Given the description of an element on the screen output the (x, y) to click on. 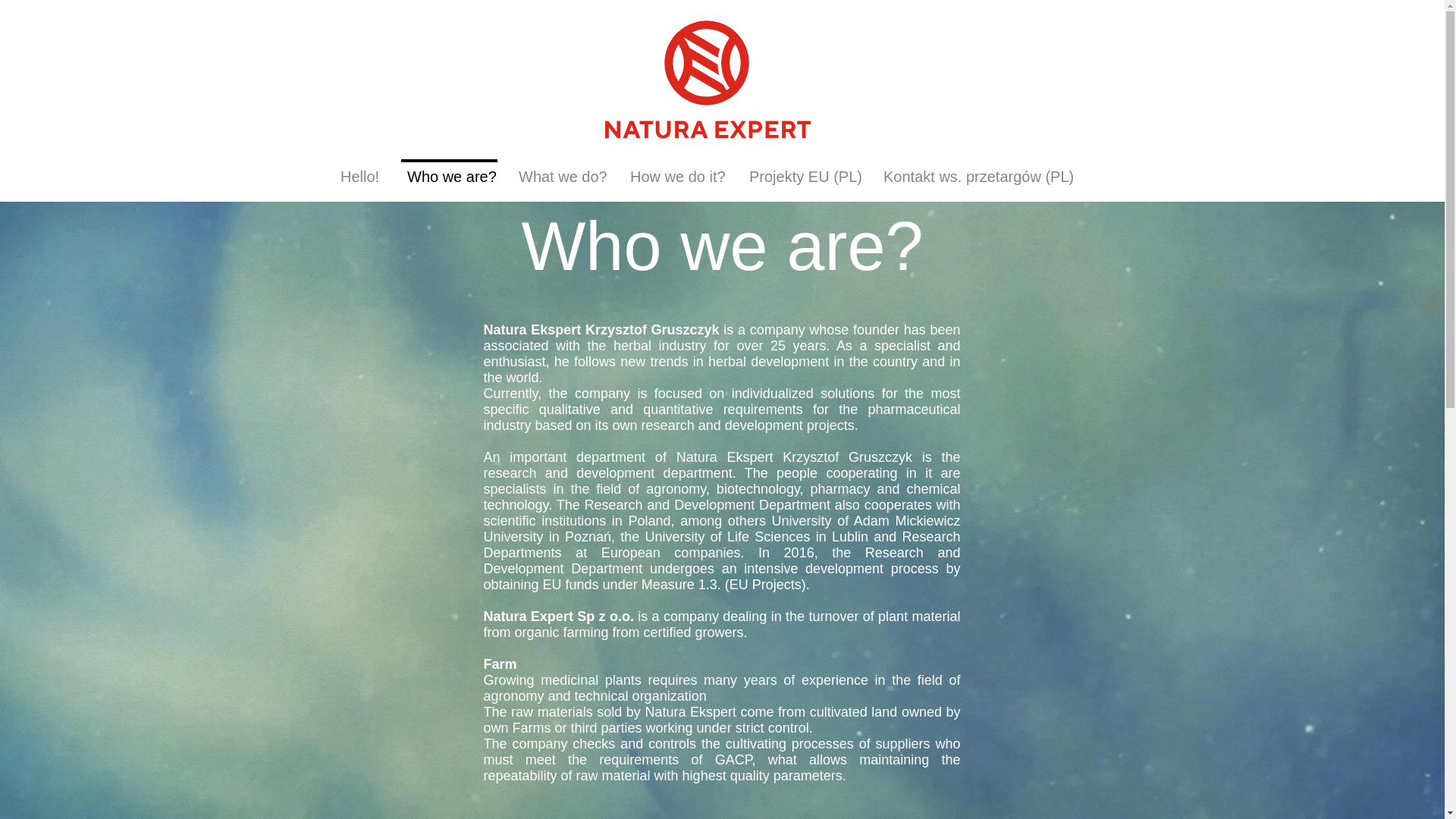
Who we are? (449, 169)
How we do it? (675, 169)
What we do? (560, 169)
Hello! (359, 169)
